Given the description of an element on the screen output the (x, y) to click on. 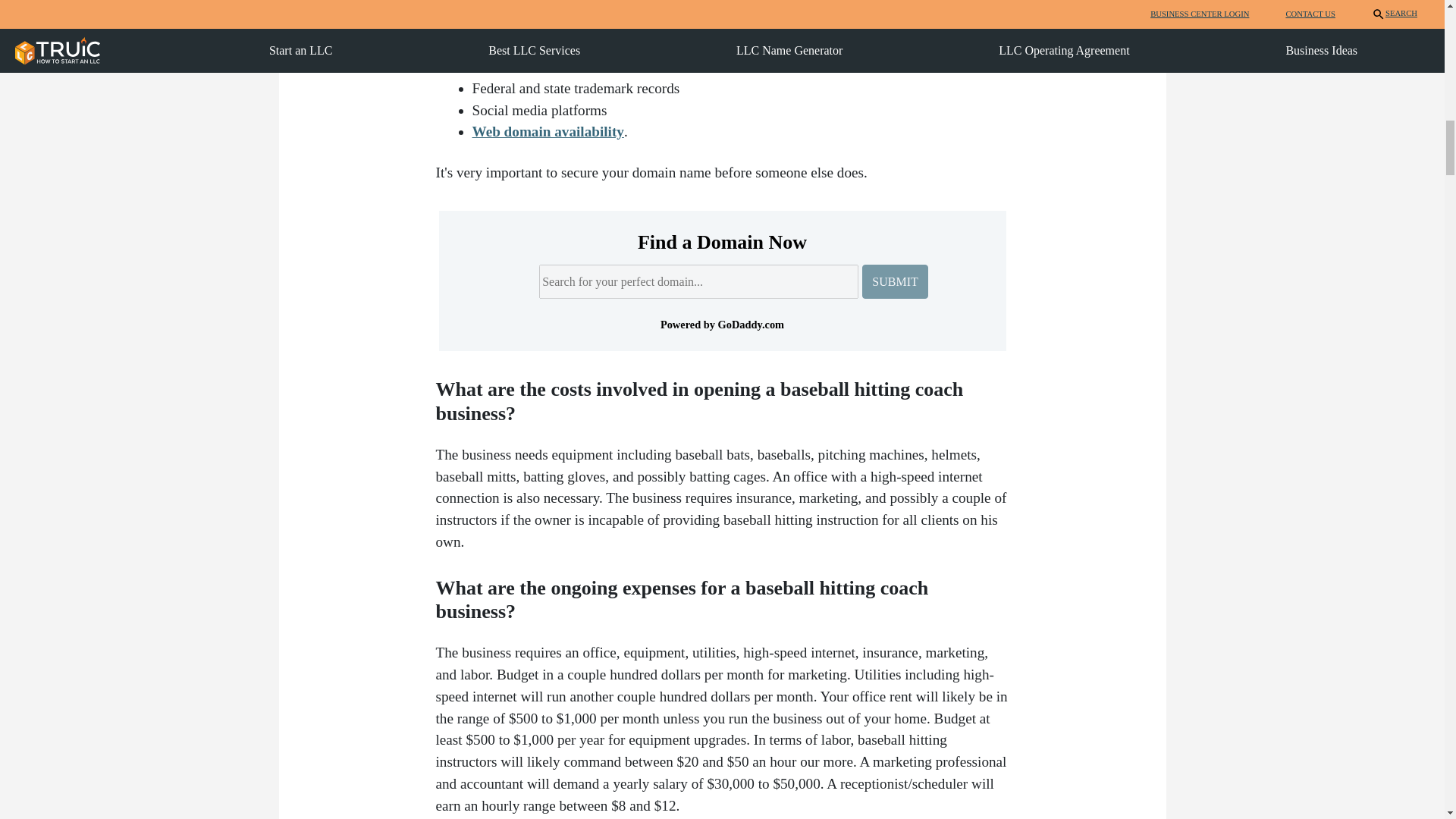
DBA (601, 2)
registering a business name (559, 36)
Web domain availability (547, 131)
SUBMIT (894, 281)
Find a Domain Now (721, 241)
